Given the description of an element on the screen output the (x, y) to click on. 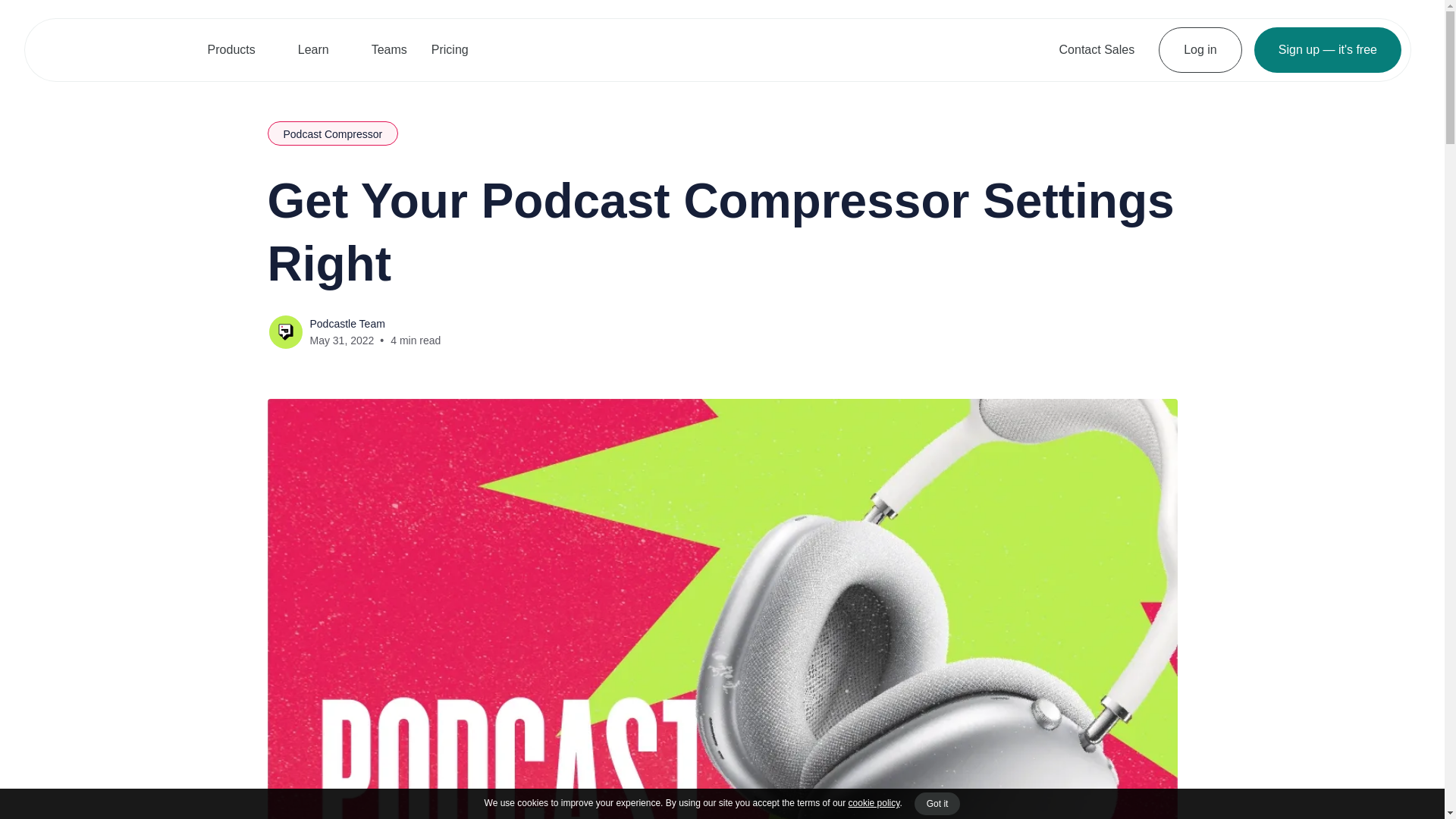
Teams (389, 49)
Podcast Compressor (331, 133)
Podcastle Team (346, 323)
Contact Sales (1096, 49)
Pricing (449, 49)
